Given the description of an element on the screen output the (x, y) to click on. 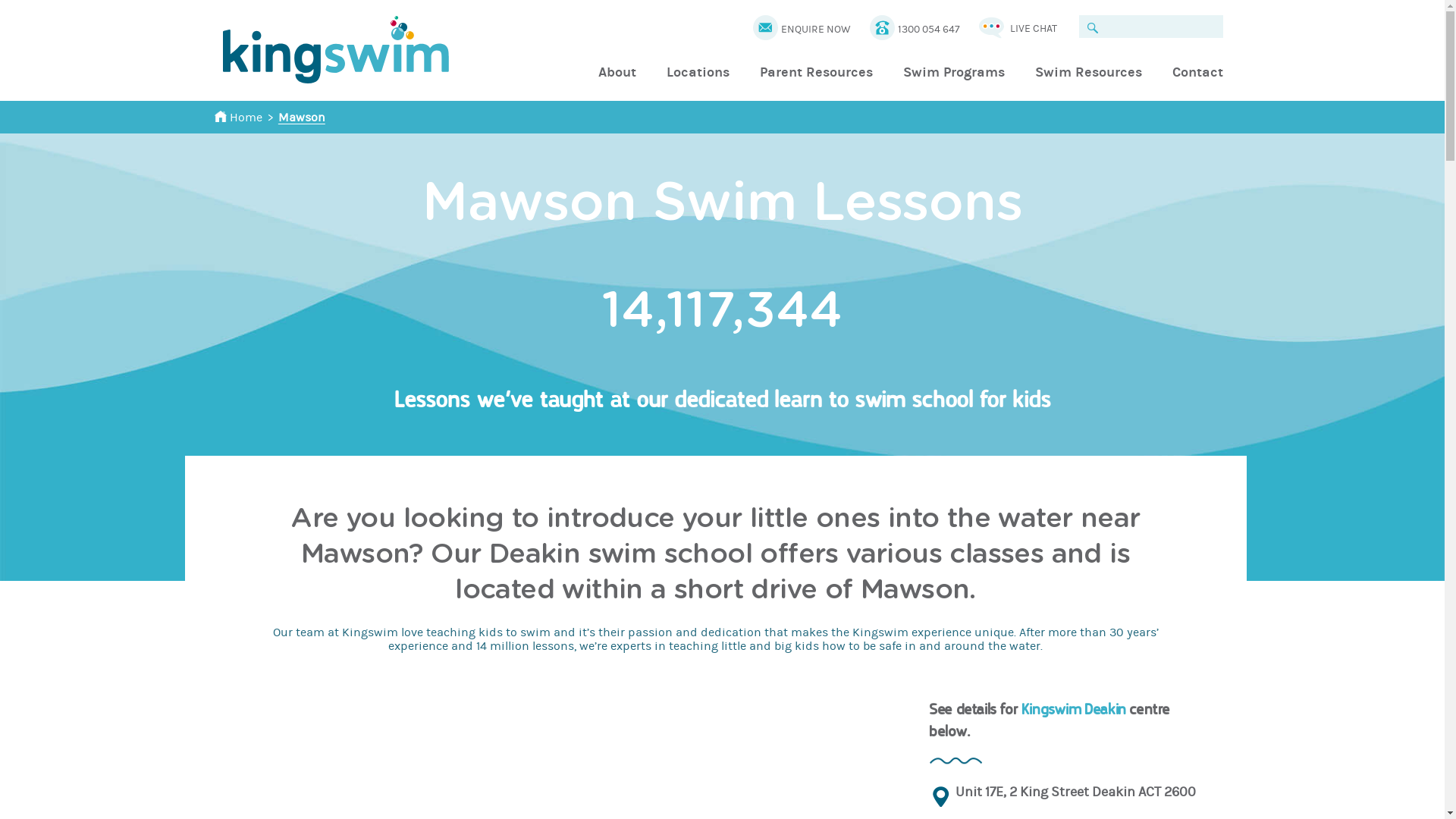
ENQUIRE NOW Element type: text (815, 28)
1300 054 647 Element type: text (928, 28)
Kingswim Element type: hover (334, 49)
LIVE CHAT Element type: text (1033, 28)
Home Element type: text (238, 117)
Kingswim Deakin Element type: text (1075, 708)
Contact Element type: text (1197, 72)
Locations Element type: text (696, 72)
Swim Resources Element type: text (1087, 72)
Parent Resources Element type: text (815, 72)
About Element type: text (616, 72)
Swim Programs Element type: text (953, 72)
